Given the description of an element on the screen output the (x, y) to click on. 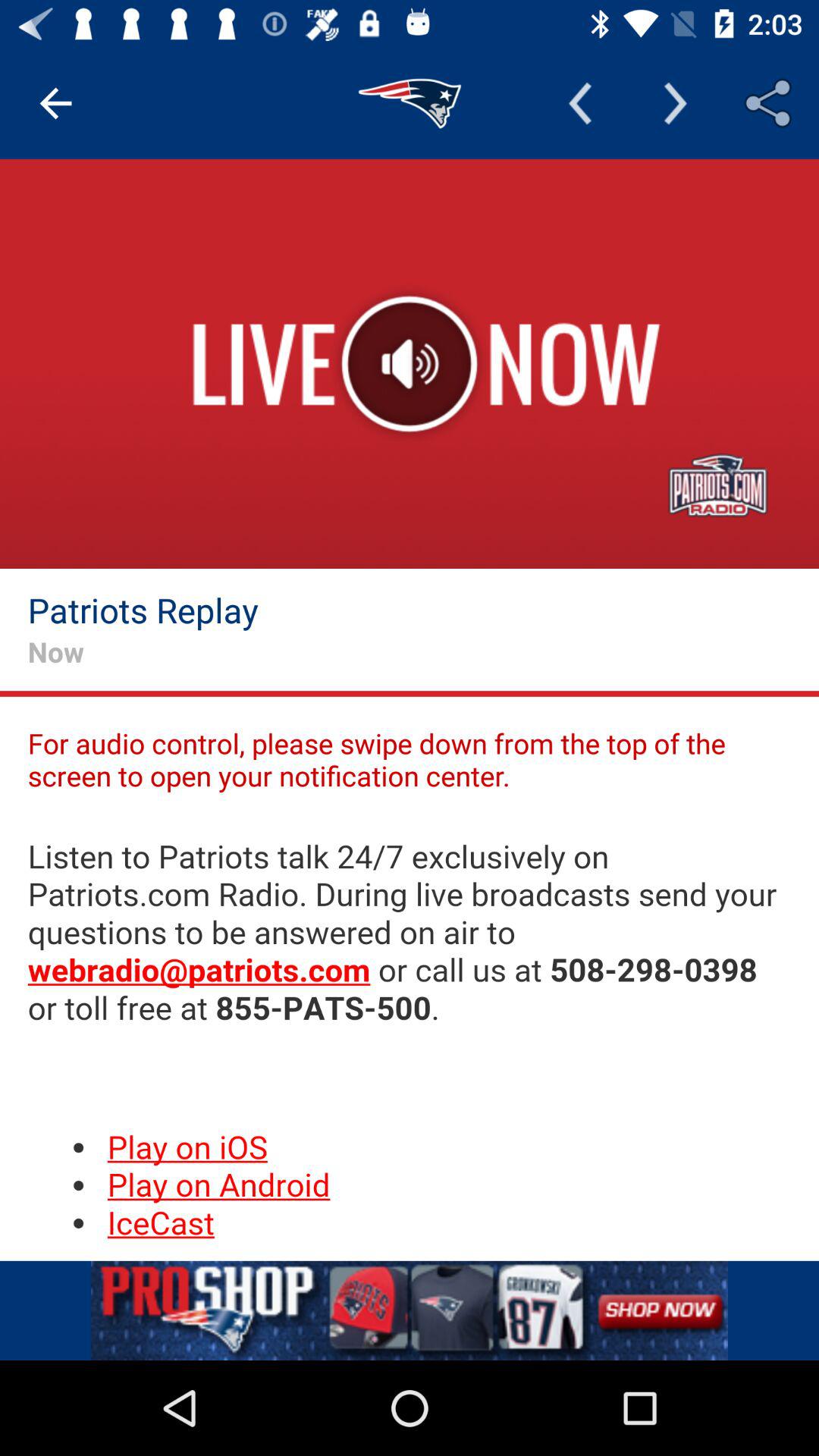
play live video (409, 363)
